Given the description of an element on the screen output the (x, y) to click on. 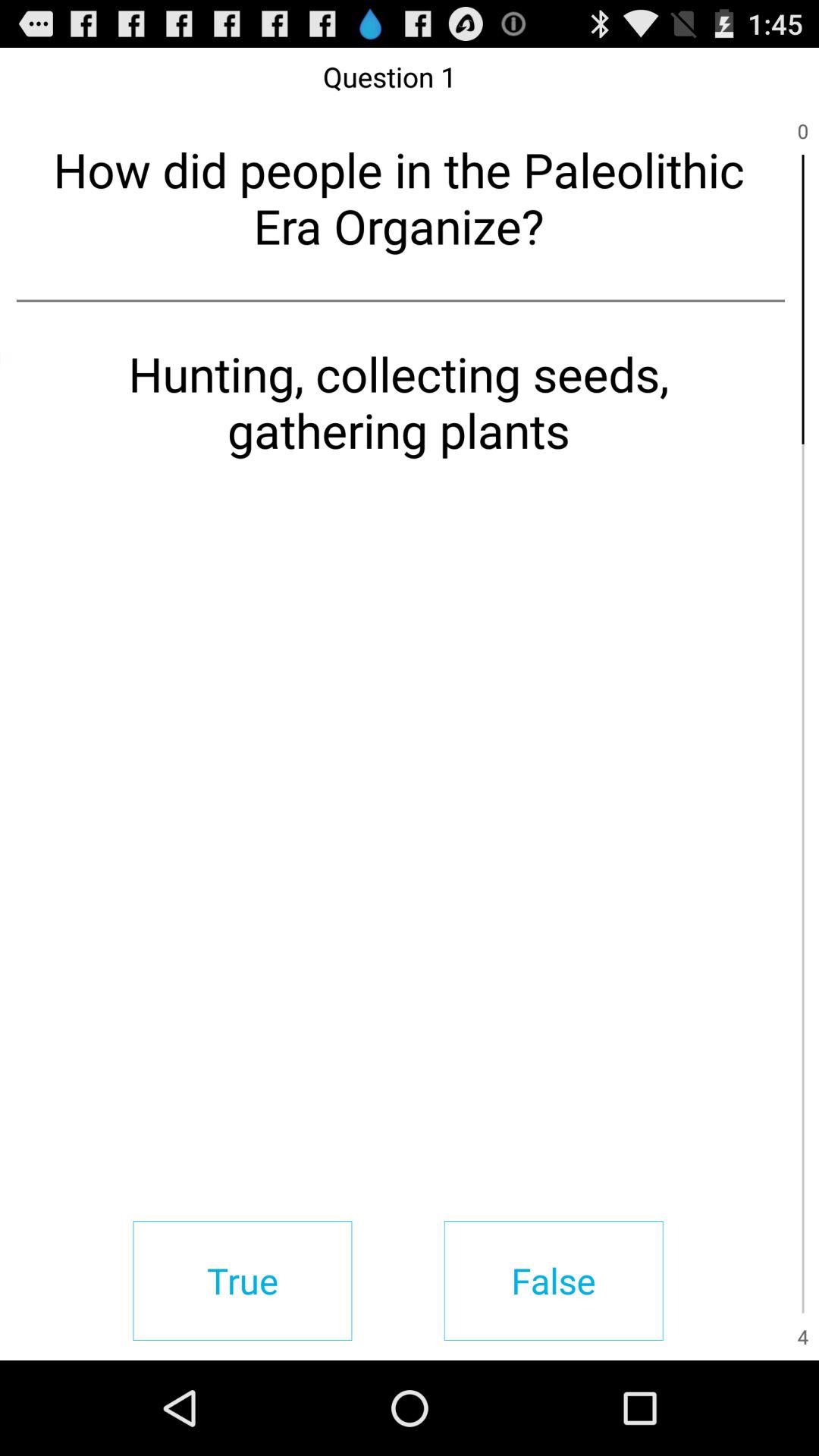
turn off item below the hunting collecting seeds item (553, 1280)
